Given the description of an element on the screen output the (x, y) to click on. 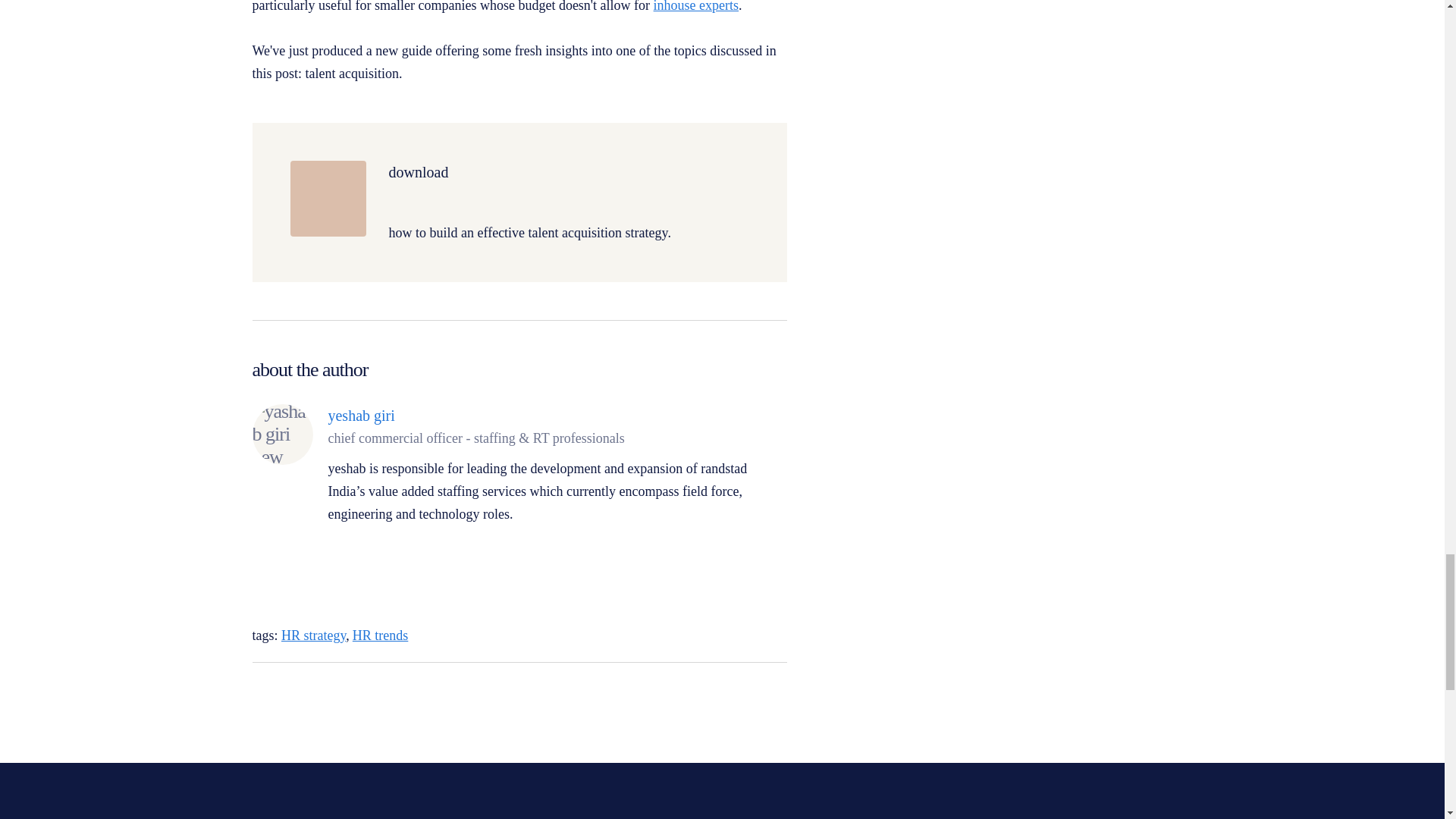
share this article on linkedin (695, 689)
email this article (258, 693)
print this article (289, 693)
how to build a talent acquisition strategy. (528, 232)
share this article on twitter (735, 689)
share this article on facebook (774, 689)
Linkedin-filled (338, 551)
